Given the description of an element on the screen output the (x, y) to click on. 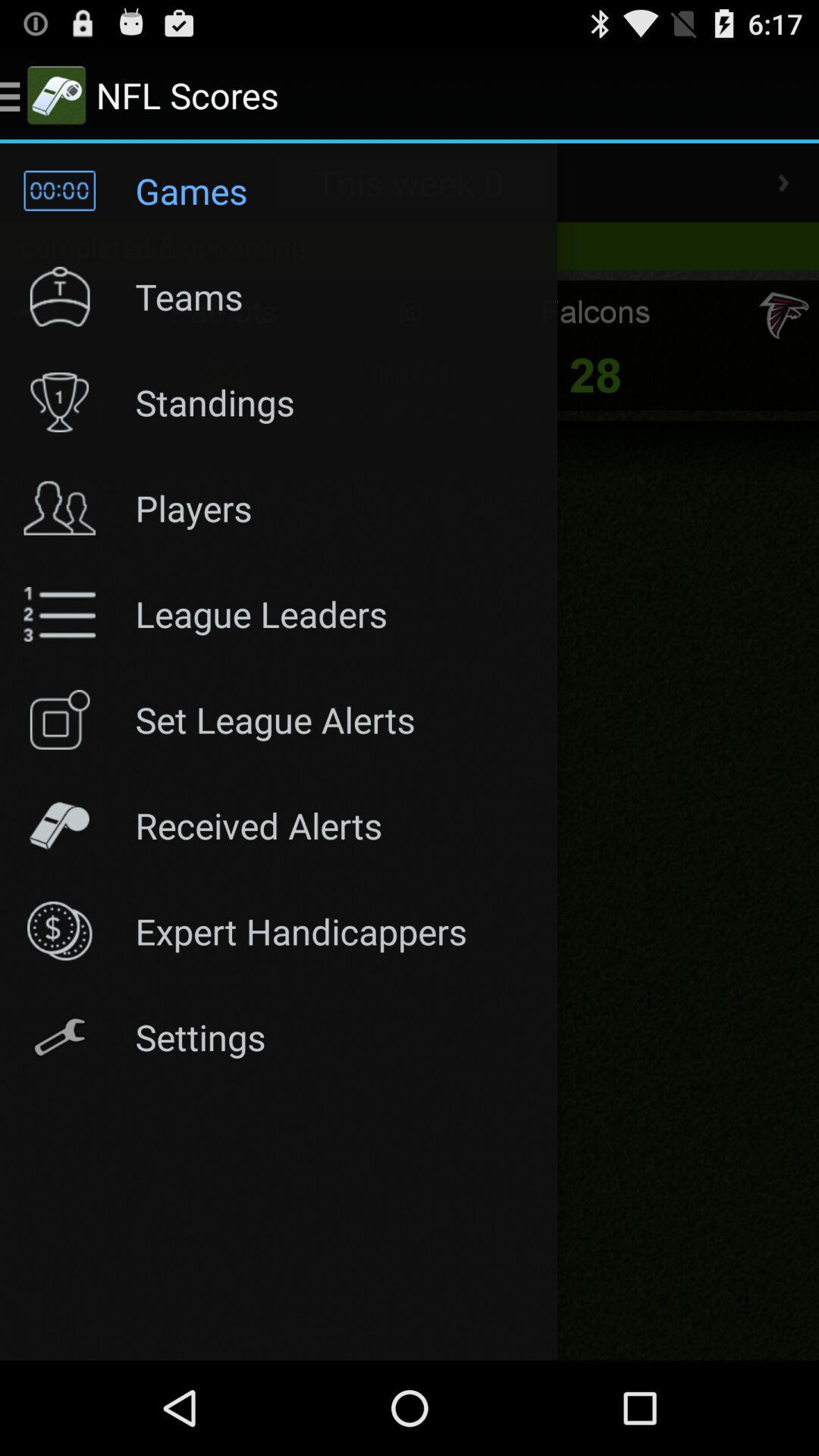
next page (783, 182)
